Given the description of an element on the screen output the (x, y) to click on. 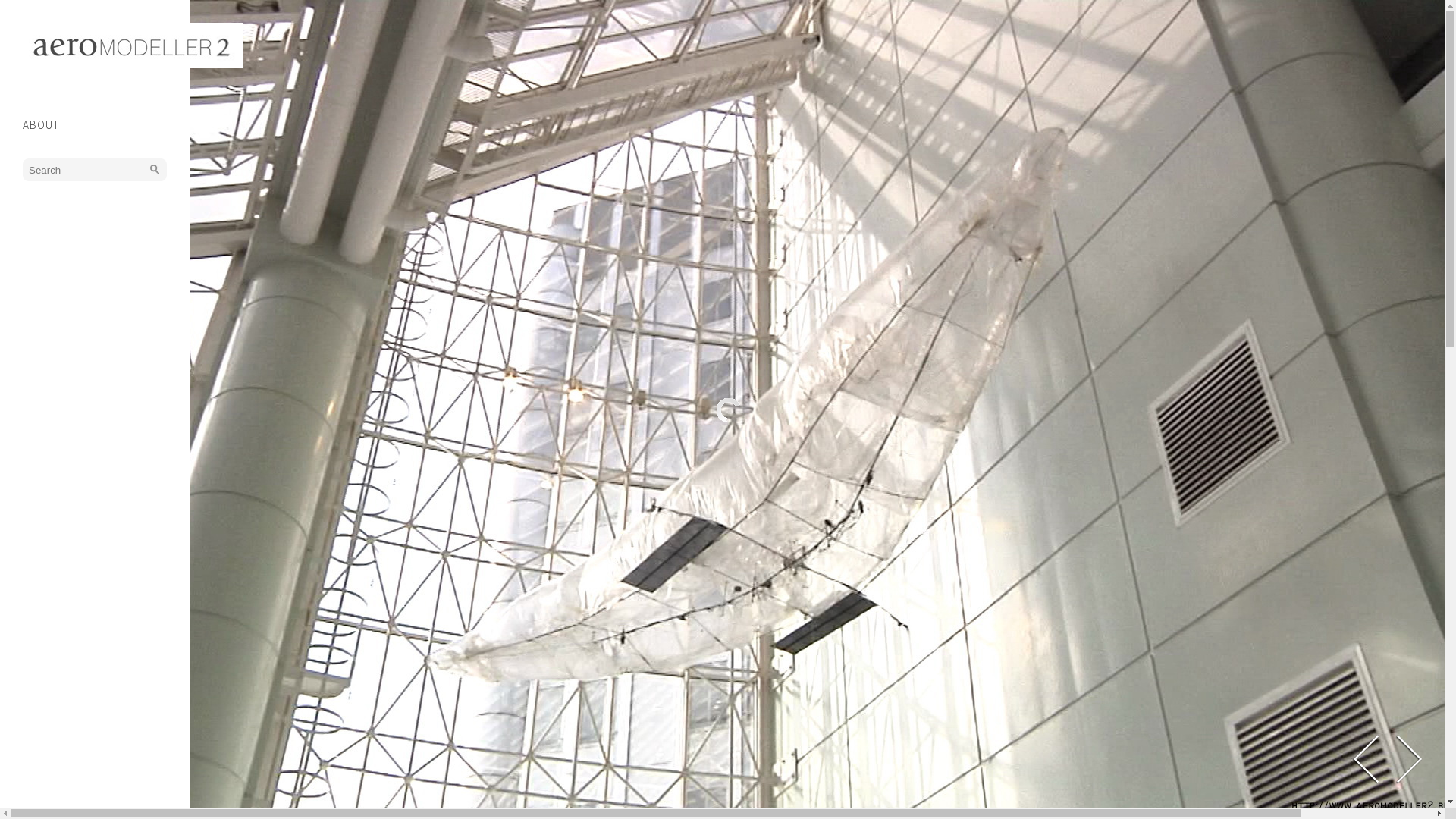
ABOUT Element type: text (40, 124)
